Given the description of an element on the screen output the (x, y) to click on. 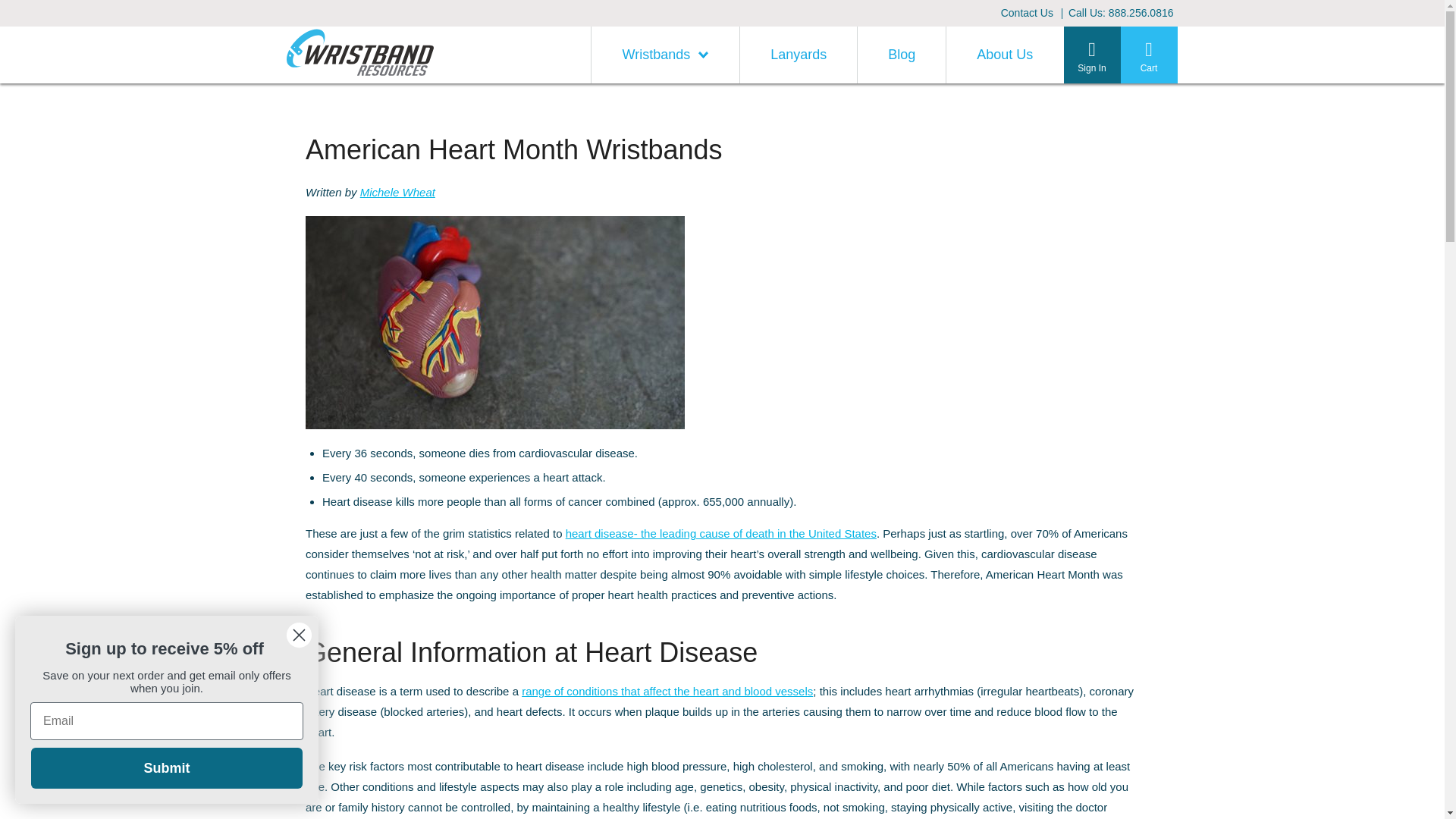
Wristbands (665, 54)
Blog (900, 54)
Lanyards (798, 54)
Sign in (1110, 401)
Contact Us (1027, 13)
Sign In (1090, 54)
Call Us: 888.256.0816 (1120, 13)
Cart (1149, 54)
range of conditions that affect the heart and blood vessels (666, 690)
Michele Wheat (397, 192)
About Us (1003, 54)
